Given the description of an element on the screen output the (x, y) to click on. 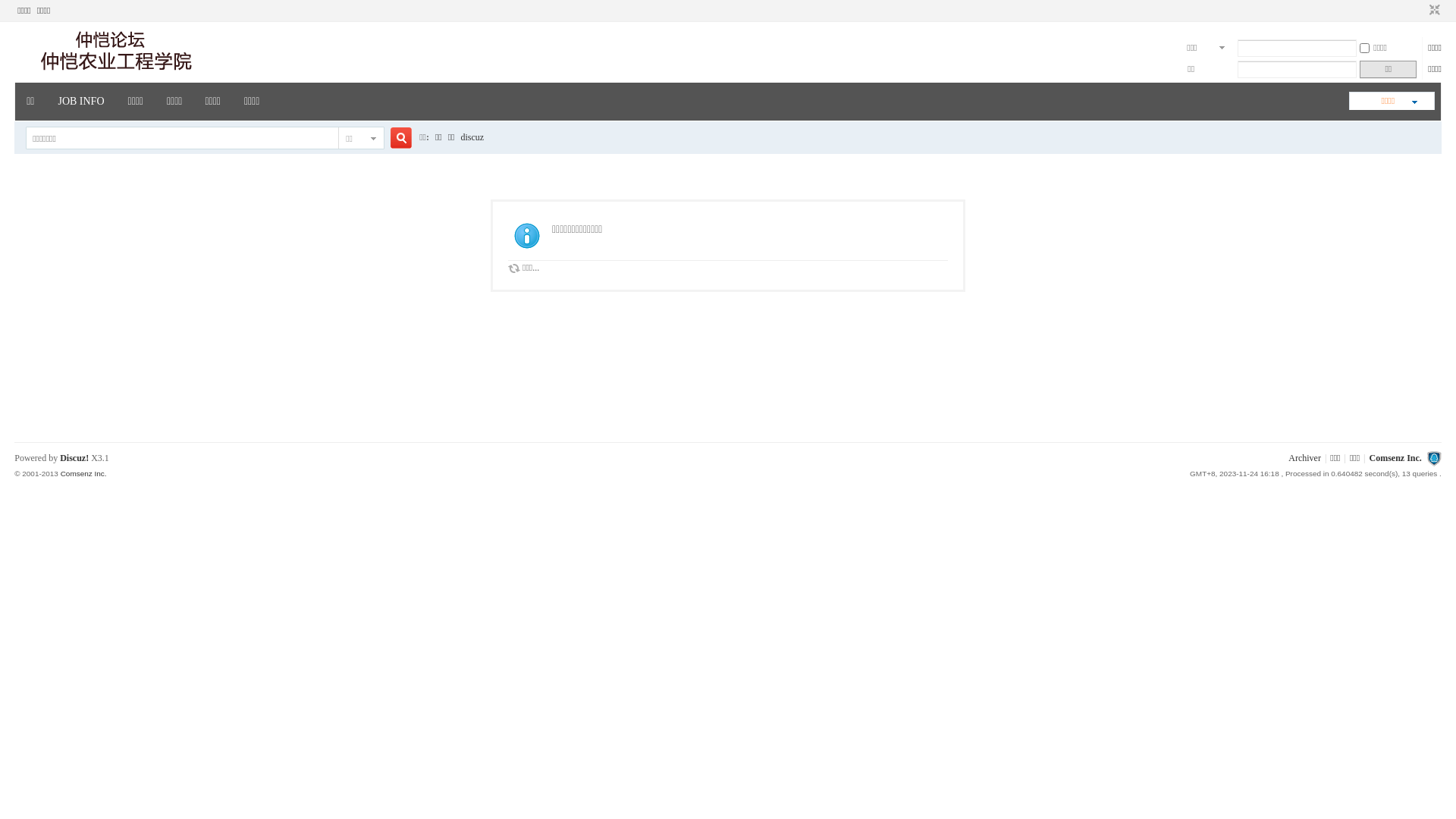
Comsenz Inc. Element type: text (1394, 457)
Discuz! Board Element type: hover (112, 70)
JOB INFO Element type: text (80, 94)
discuz Element type: text (472, 137)
Archiver Element type: text (1304, 457)
true Element type: text (395, 138)
Comsenz Inc. Element type: text (83, 473)
Discuz! Element type: text (73, 457)
